Given the description of an element on the screen output the (x, y) to click on. 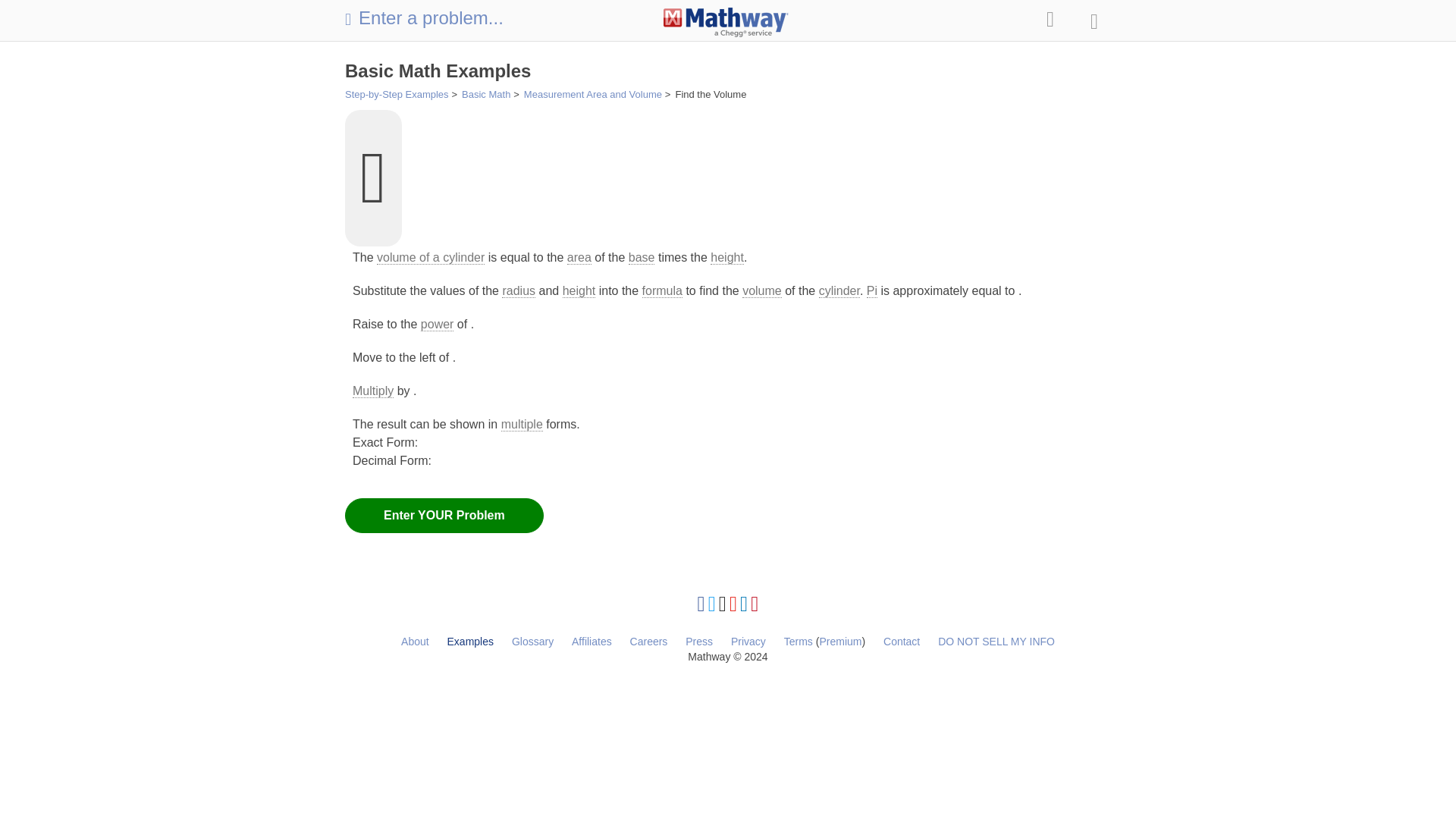
Enter YOUR Problem (444, 515)
Contact (901, 641)
Premium (839, 641)
Basic Math (486, 93)
Privacy (747, 641)
About (415, 641)
Step-by-Step Examples (396, 93)
DO NOT SELL MY INFO (995, 641)
Glossary (532, 641)
Examples (469, 641)
